Given the description of an element on the screen output the (x, y) to click on. 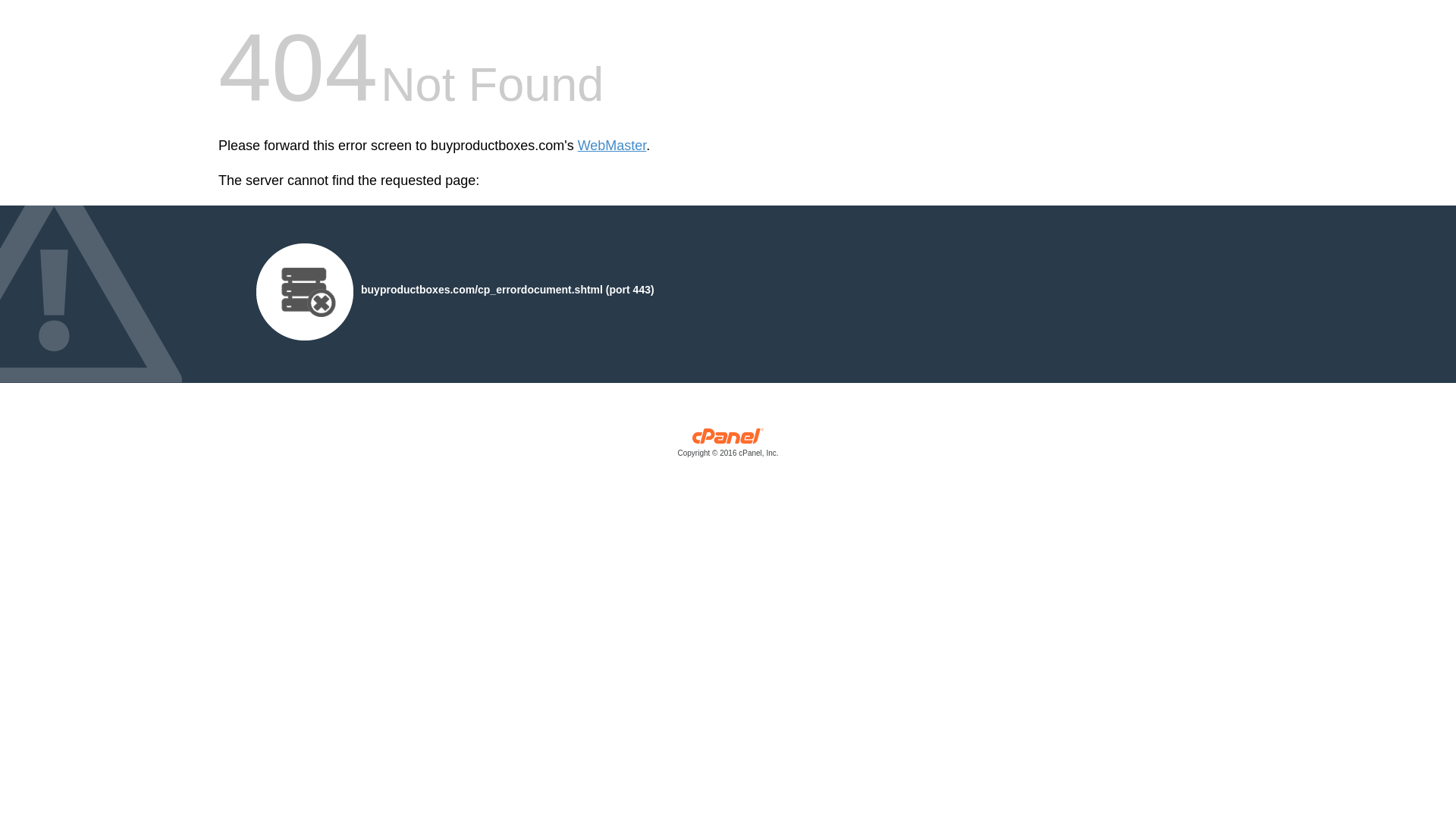
WebMaster (612, 145)
cPanel, Inc. (727, 446)
